Given the description of an element on the screen output the (x, y) to click on. 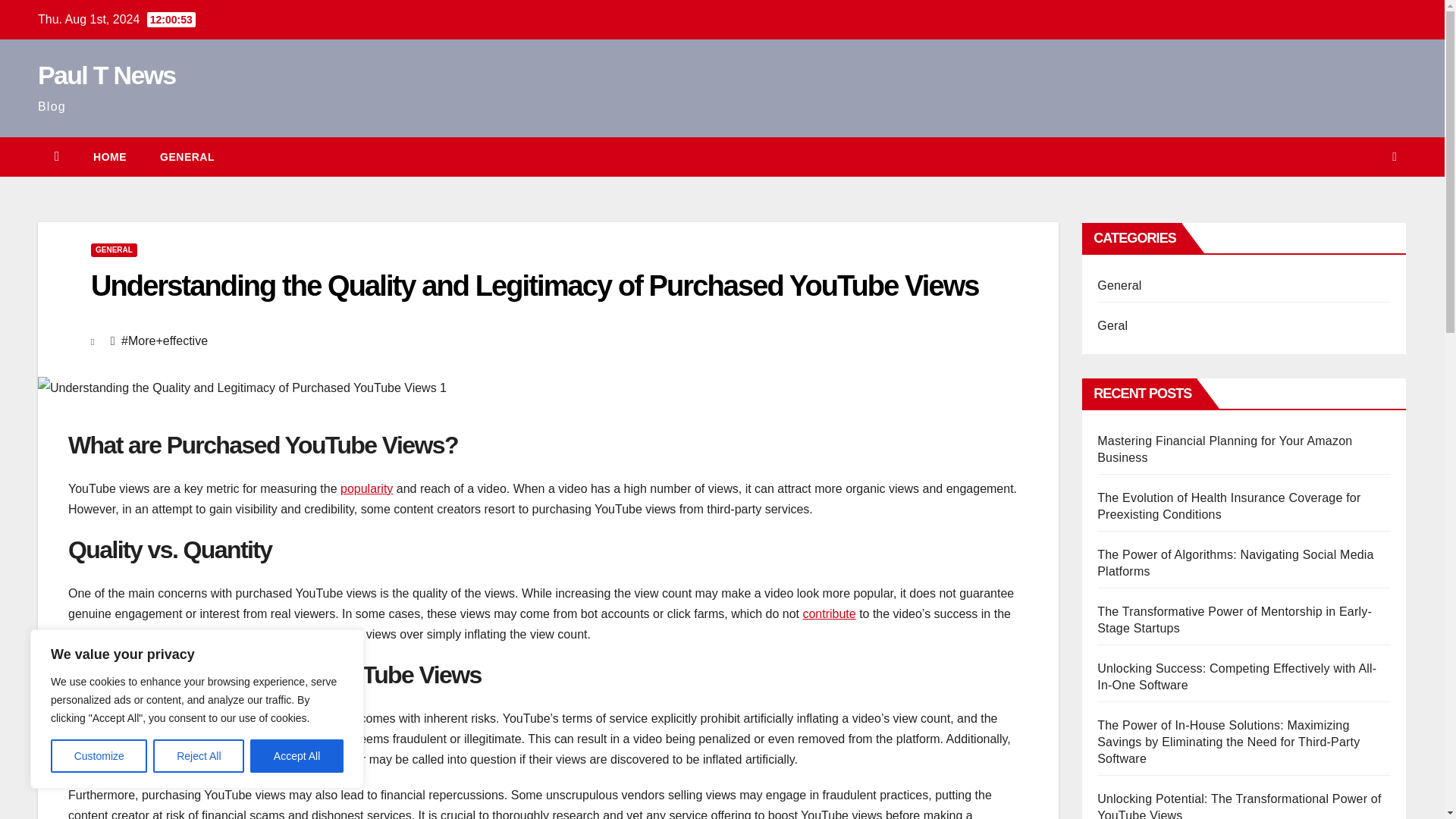
HOME (109, 156)
Customize (98, 756)
contribute (829, 613)
General (186, 156)
GENERAL (186, 156)
Accept All (296, 756)
Home (109, 156)
popularity (366, 488)
GENERAL (113, 250)
Paul T News (106, 74)
Reject All (198, 756)
